Given the description of an element on the screen output the (x, y) to click on. 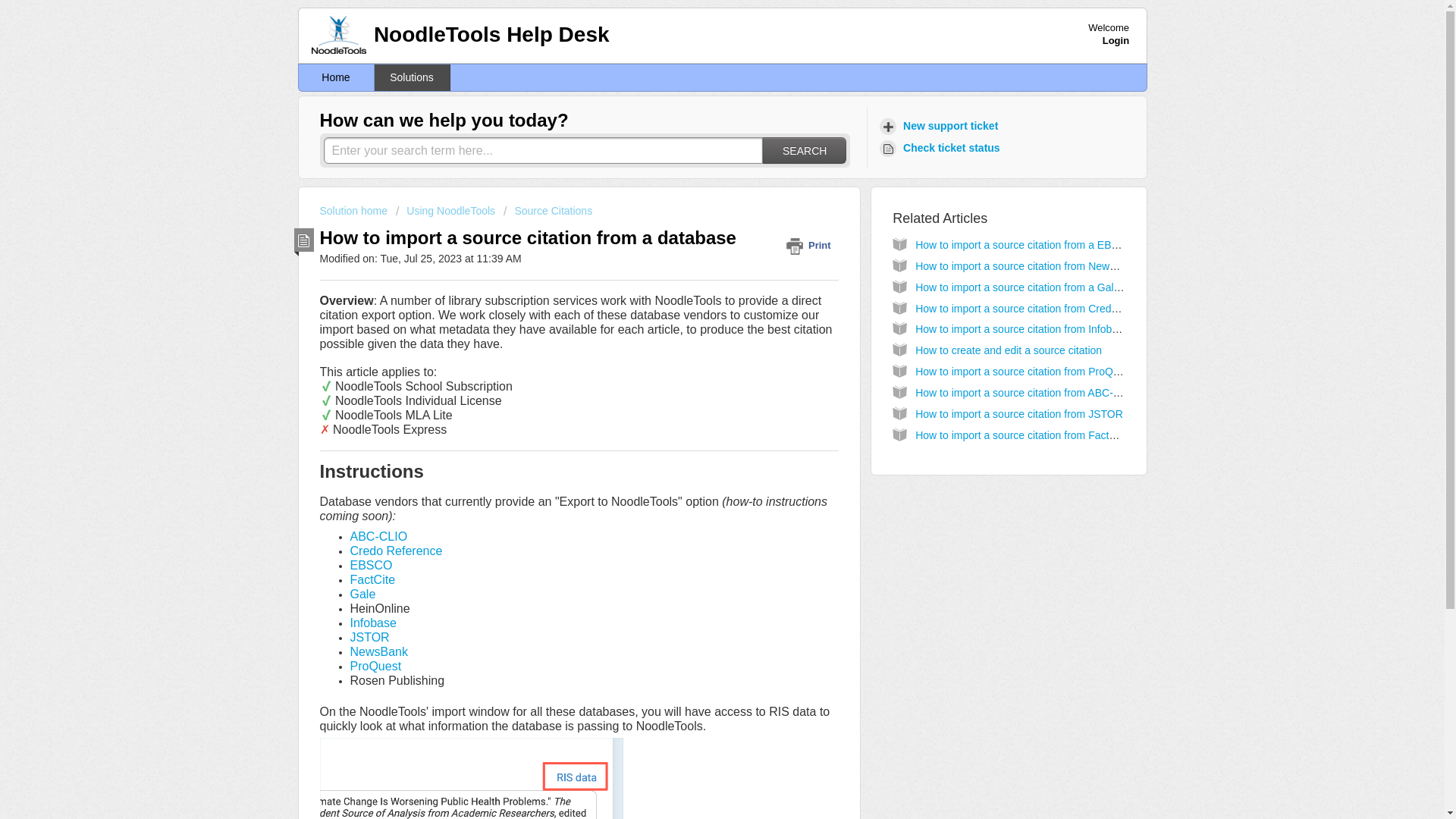
SEARCH (803, 150)
Print this Article (812, 244)
Check ticket status (941, 147)
Check ticket status (941, 147)
How to create and edit a source citation (1008, 349)
JSTOR (370, 636)
How to import a source citation from Infobase (1022, 328)
FactCite (373, 579)
ABC-CLIO (378, 535)
Infobase (373, 622)
How to import a source citation from a Gale database (1040, 287)
New support ticket (940, 126)
How to import a source citation from ABC-CLIO (1026, 392)
How to import a source citation from a EBSCO database (1047, 244)
Gale (362, 594)
